Given the description of an element on the screen output the (x, y) to click on. 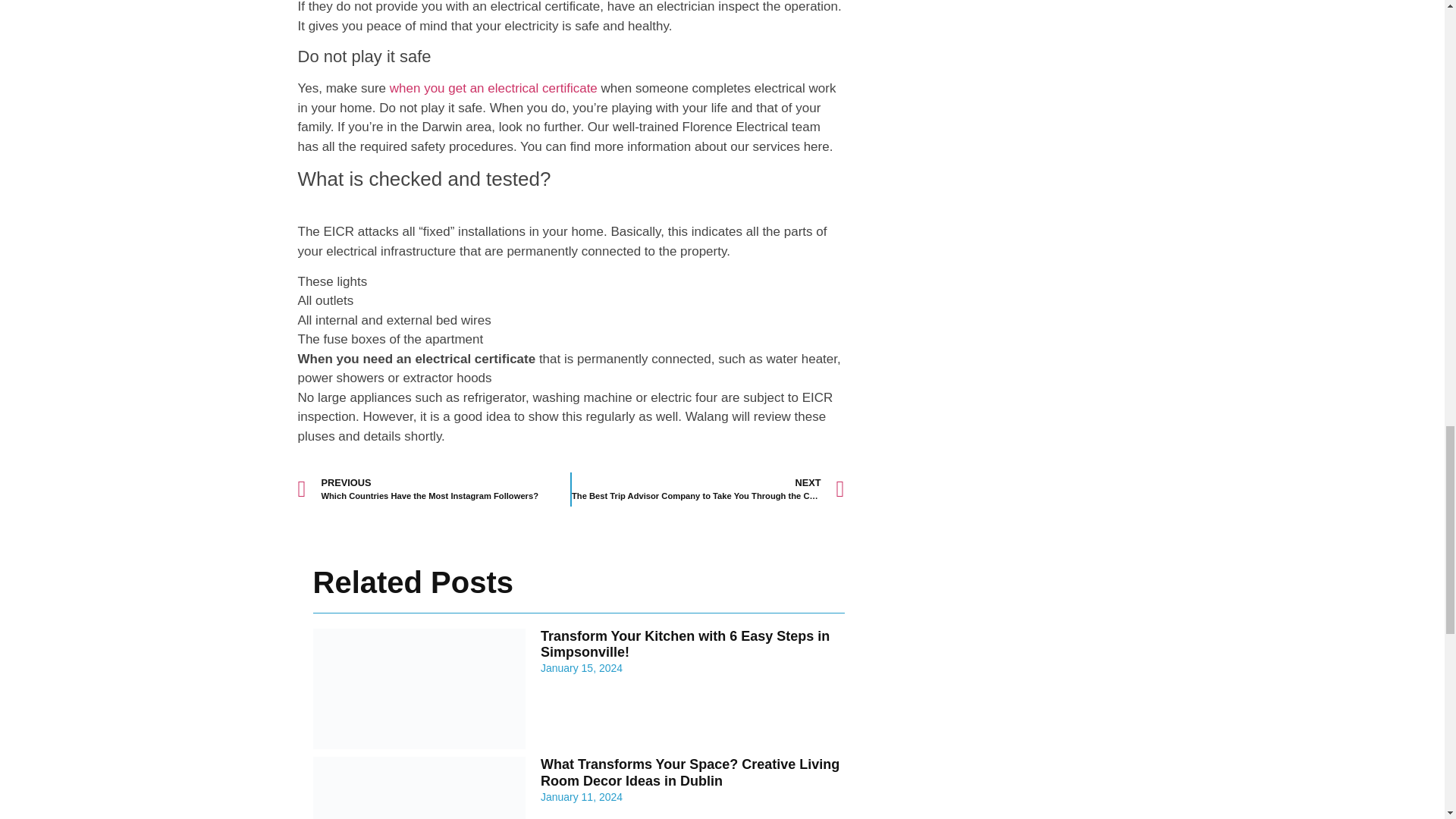
Transform Your Kitchen with 6 Easy Steps in Simpsonville! (684, 644)
when you (433, 489)
get an electrical certificate (419, 88)
